Given the description of an element on the screen output the (x, y) to click on. 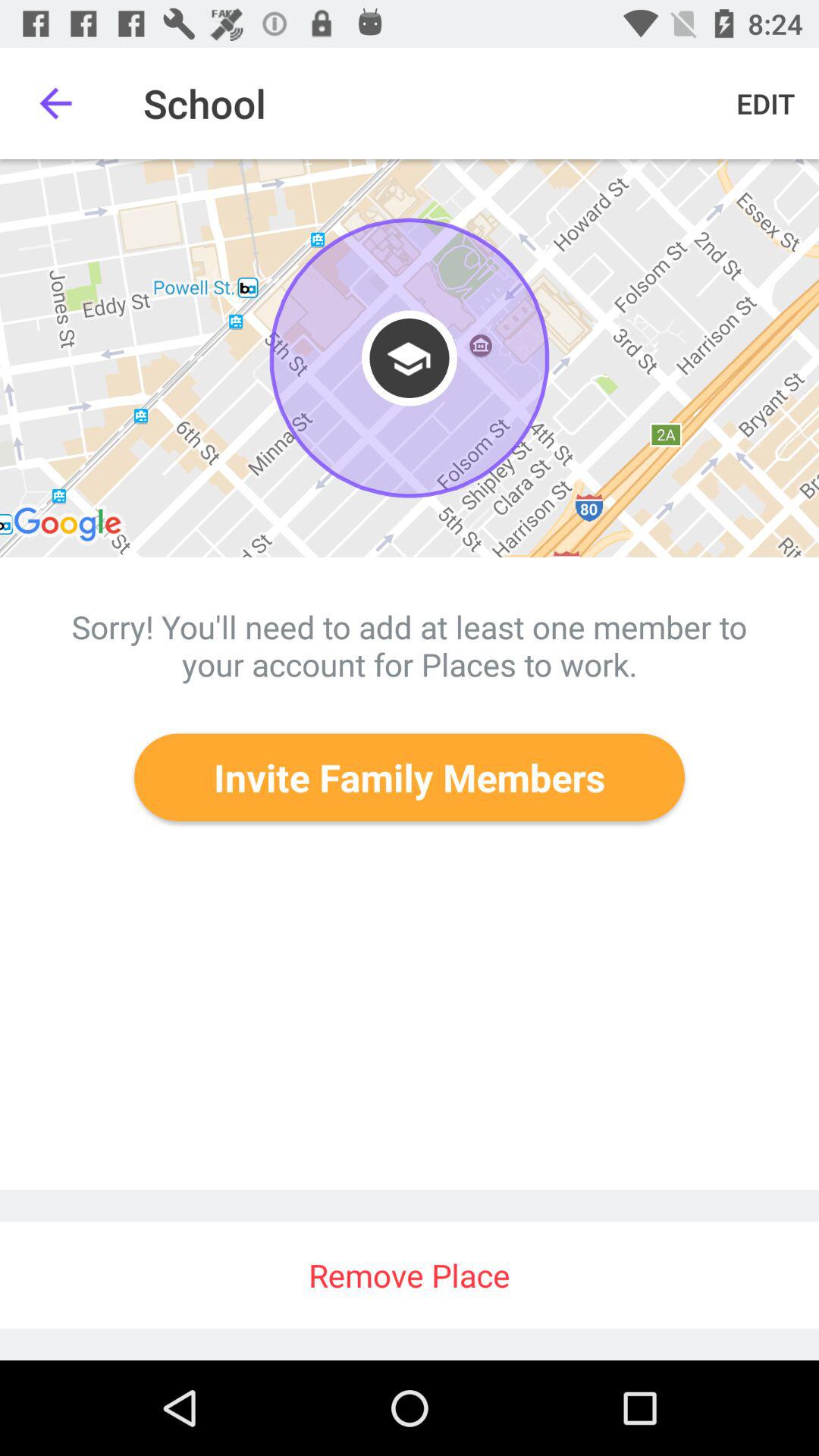
turn on the invite family members (409, 777)
